Given the description of an element on the screen output the (x, y) to click on. 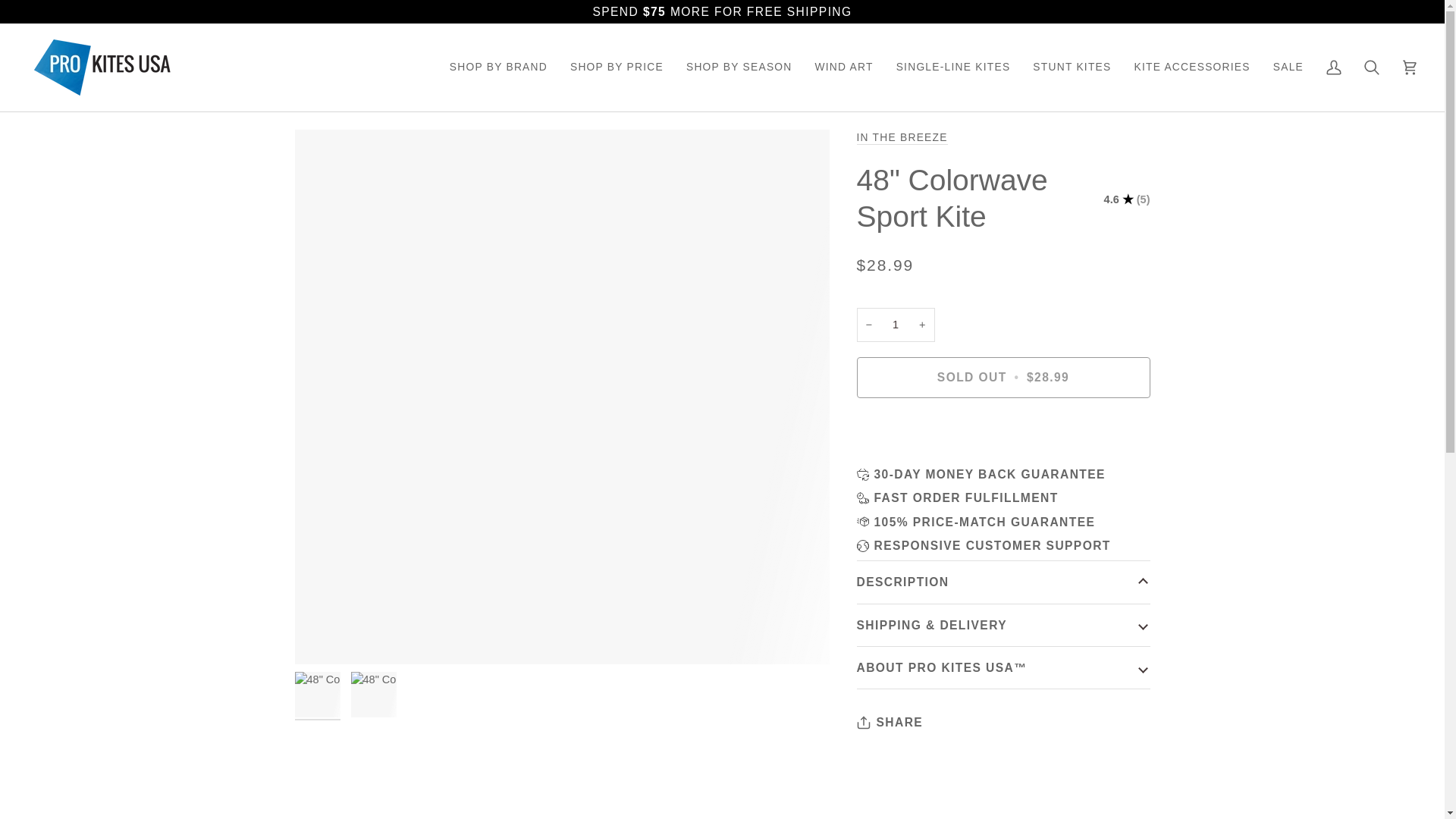
1 (895, 324)
SHOP BY SEASON (739, 67)
WIND ART (844, 67)
SHOP BY PRICE (617, 67)
SHOP BY BRAND (498, 67)
